Given the description of an element on the screen output the (x, y) to click on. 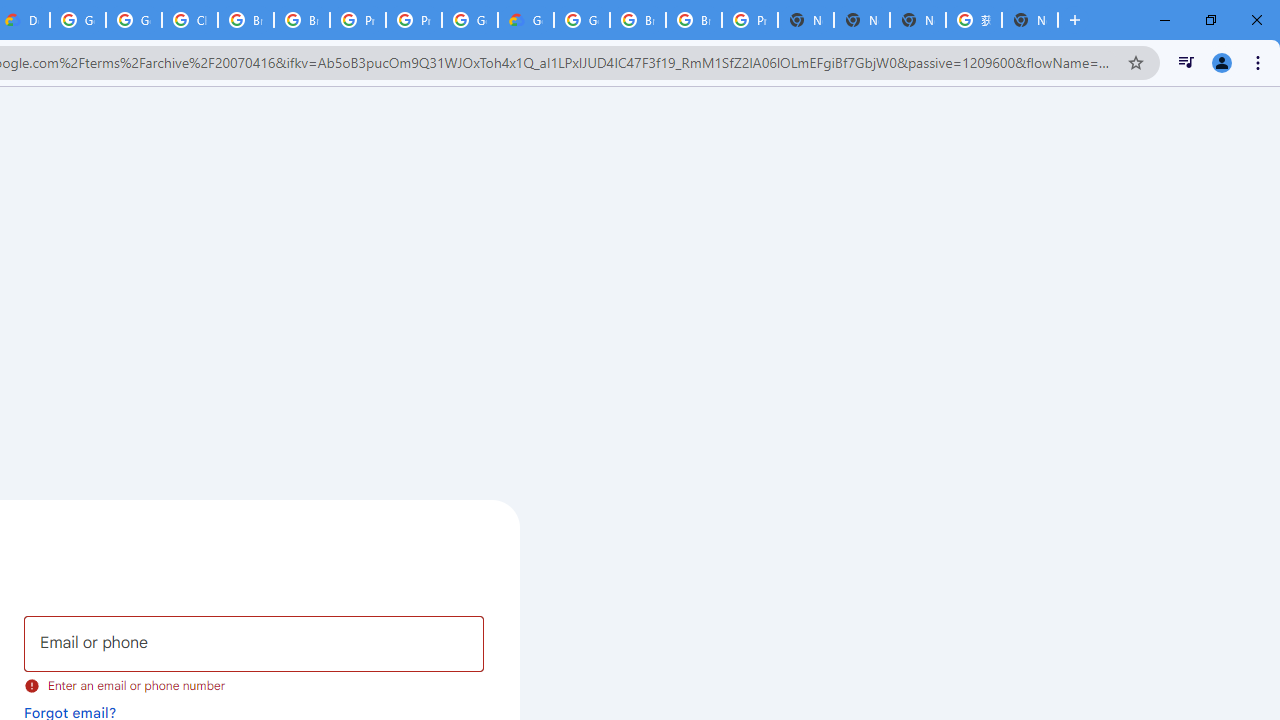
Control your music, videos, and more (1185, 62)
Google Cloud Platform (469, 20)
New Tab (806, 20)
Browse Chrome as a guest - Computer - Google Chrome Help (301, 20)
